Given the description of an element on the screen output the (x, y) to click on. 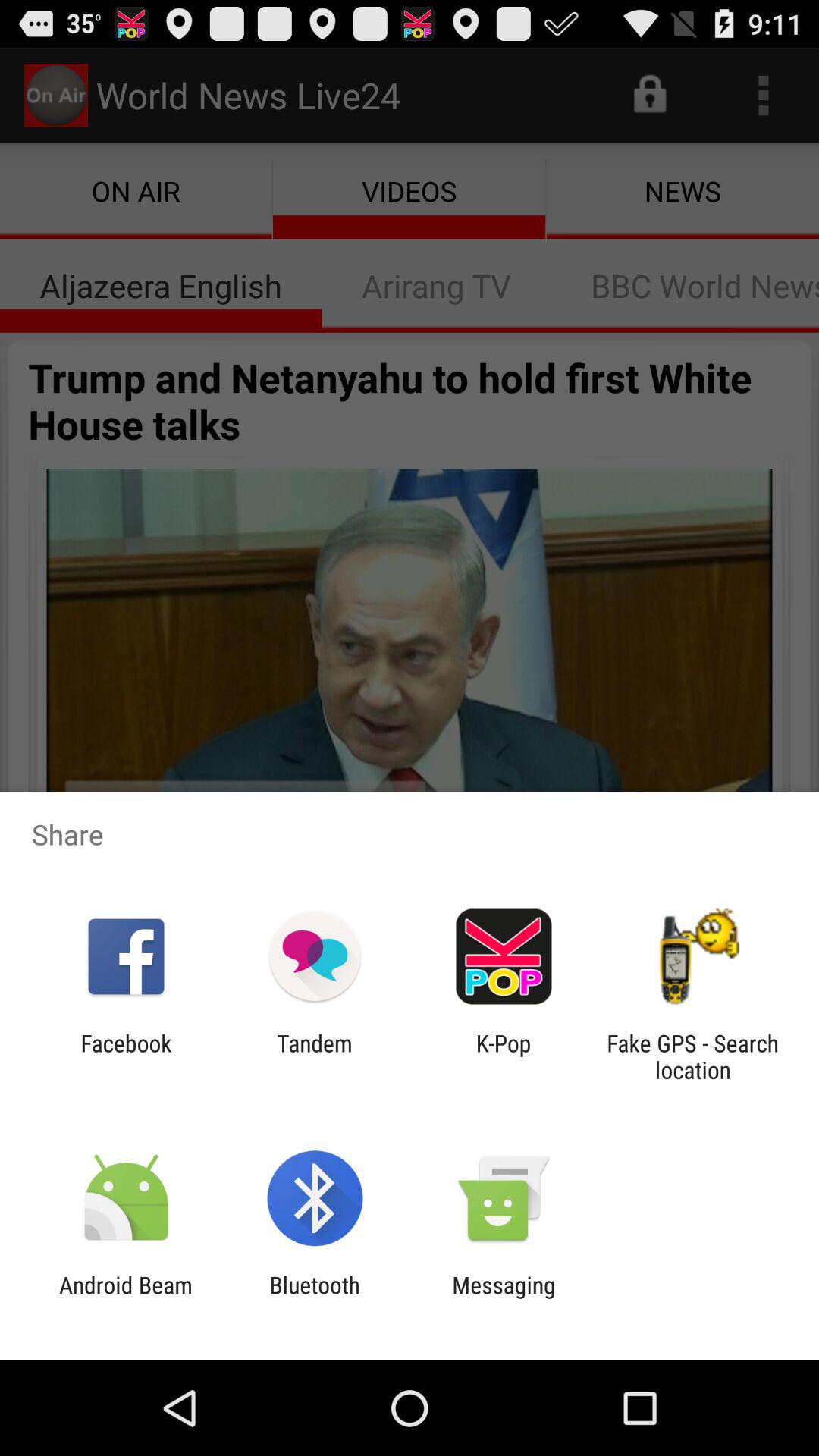
open item next to tandem item (503, 1056)
